Given the description of an element on the screen output the (x, y) to click on. 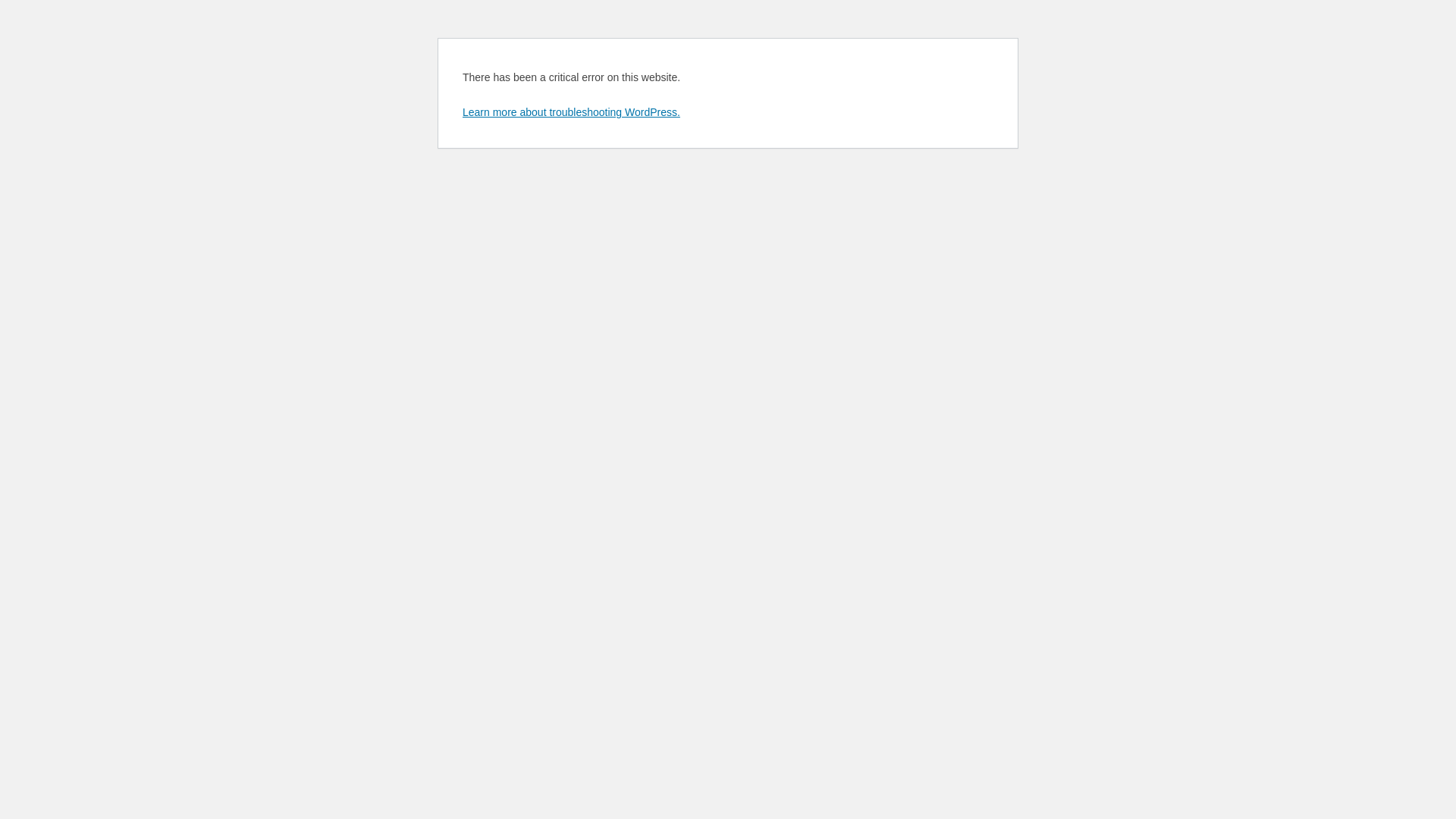
Learn more about troubleshooting WordPress. Element type: text (571, 112)
